Given the description of an element on the screen output the (x, y) to click on. 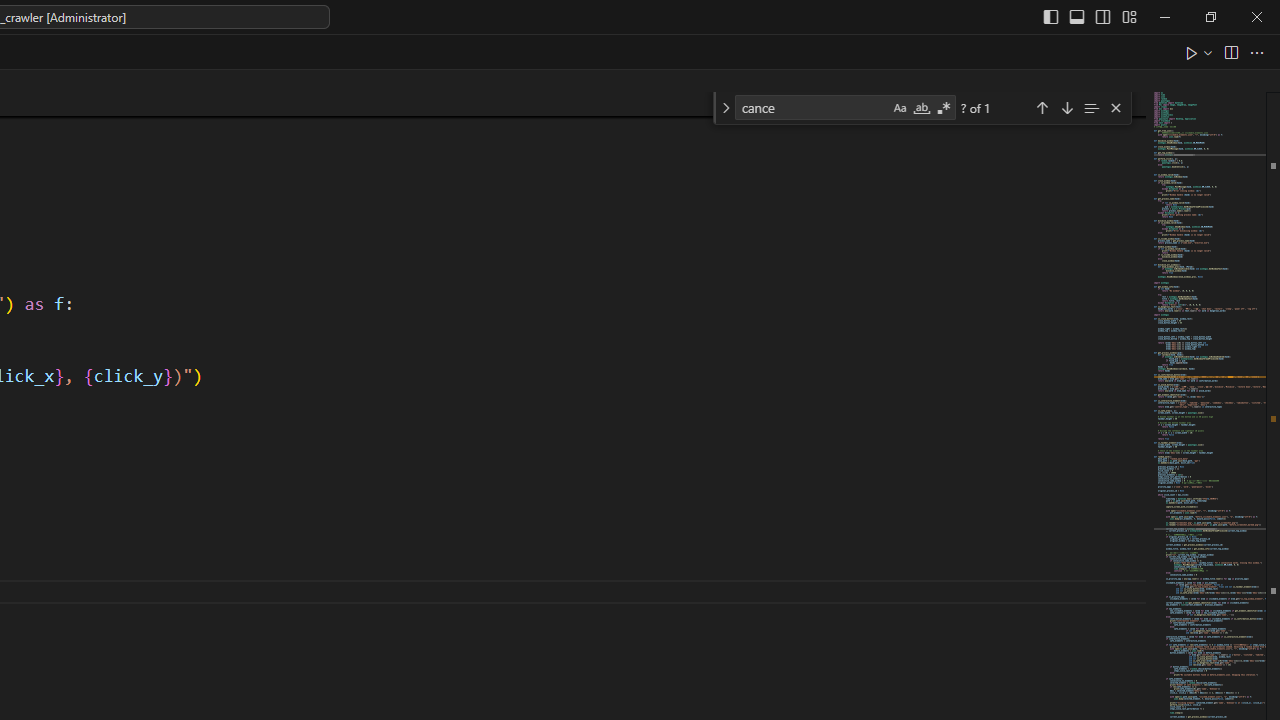
Heading 2 (429, 160)
Title (1130, 572)
Share (1210, 84)
Row Down (523, 162)
Heading 1 (267, 160)
Row up (523, 134)
Minimize (1099, 32)
Find (616, 126)
Normal (1130, 428)
Subtle Emphasis (1130, 630)
